Given the description of an element on the screen output the (x, y) to click on. 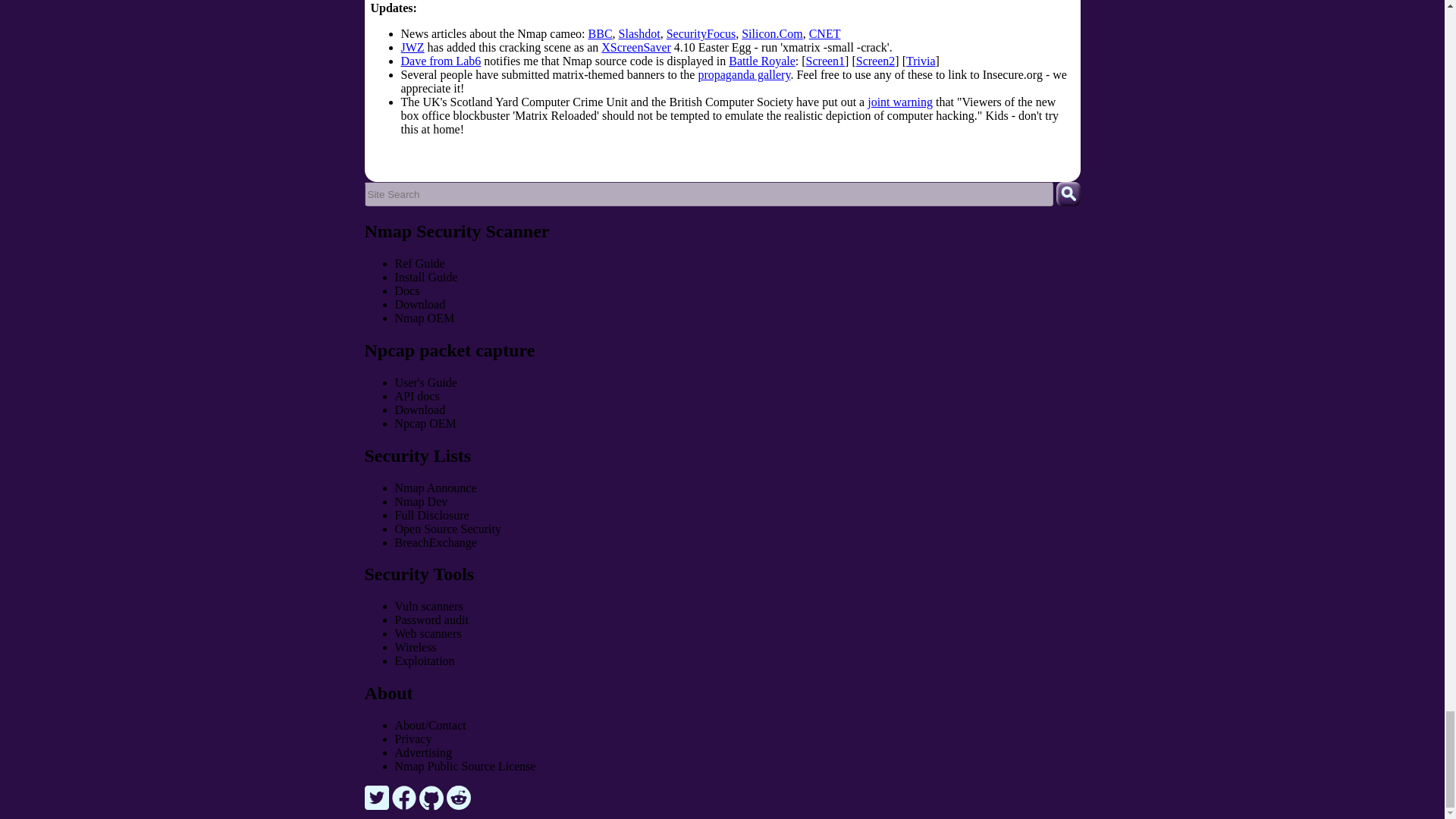
Visit us on Twitter (377, 805)
Visit us on Github (432, 805)
Visit us on Facebook (405, 805)
Discuss Nmap on Reddit (457, 805)
Search (1067, 193)
